Given the description of an element on the screen output the (x, y) to click on. 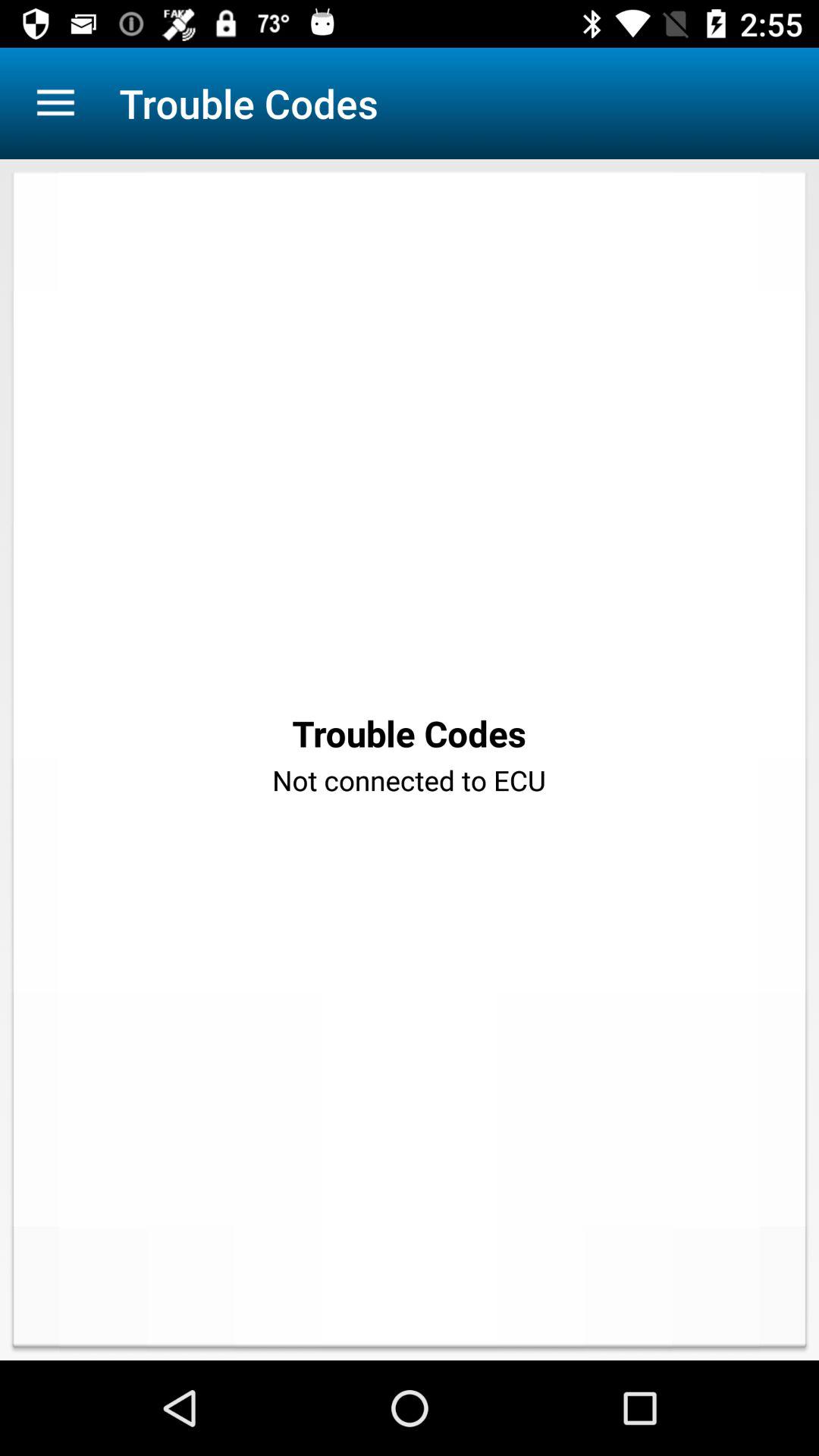
turn on app next to the trouble codes app (55, 103)
